Given the description of an element on the screen output the (x, y) to click on. 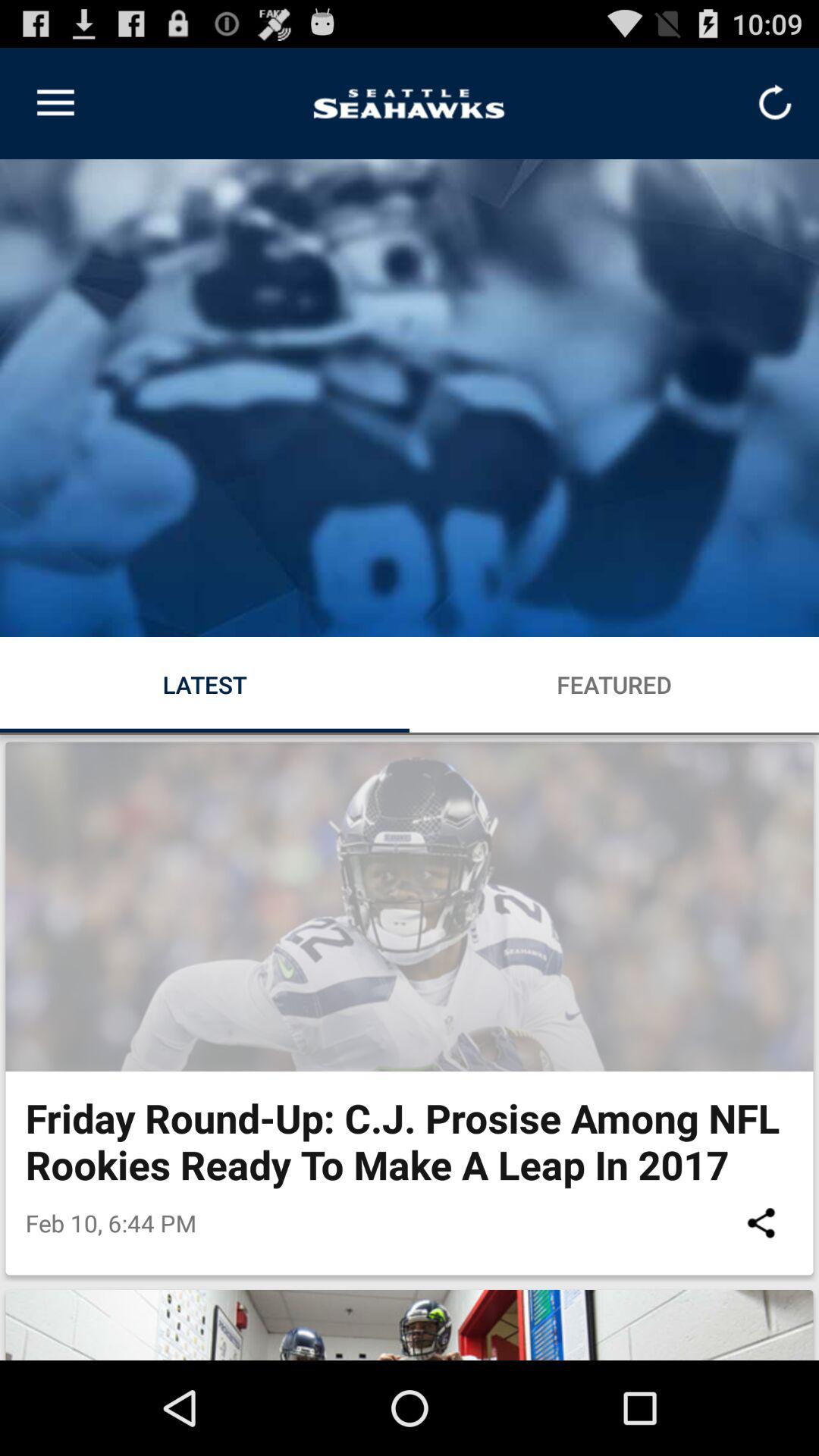
open icon to the right of the feb 10 6 (761, 1222)
